Given the description of an element on the screen output the (x, y) to click on. 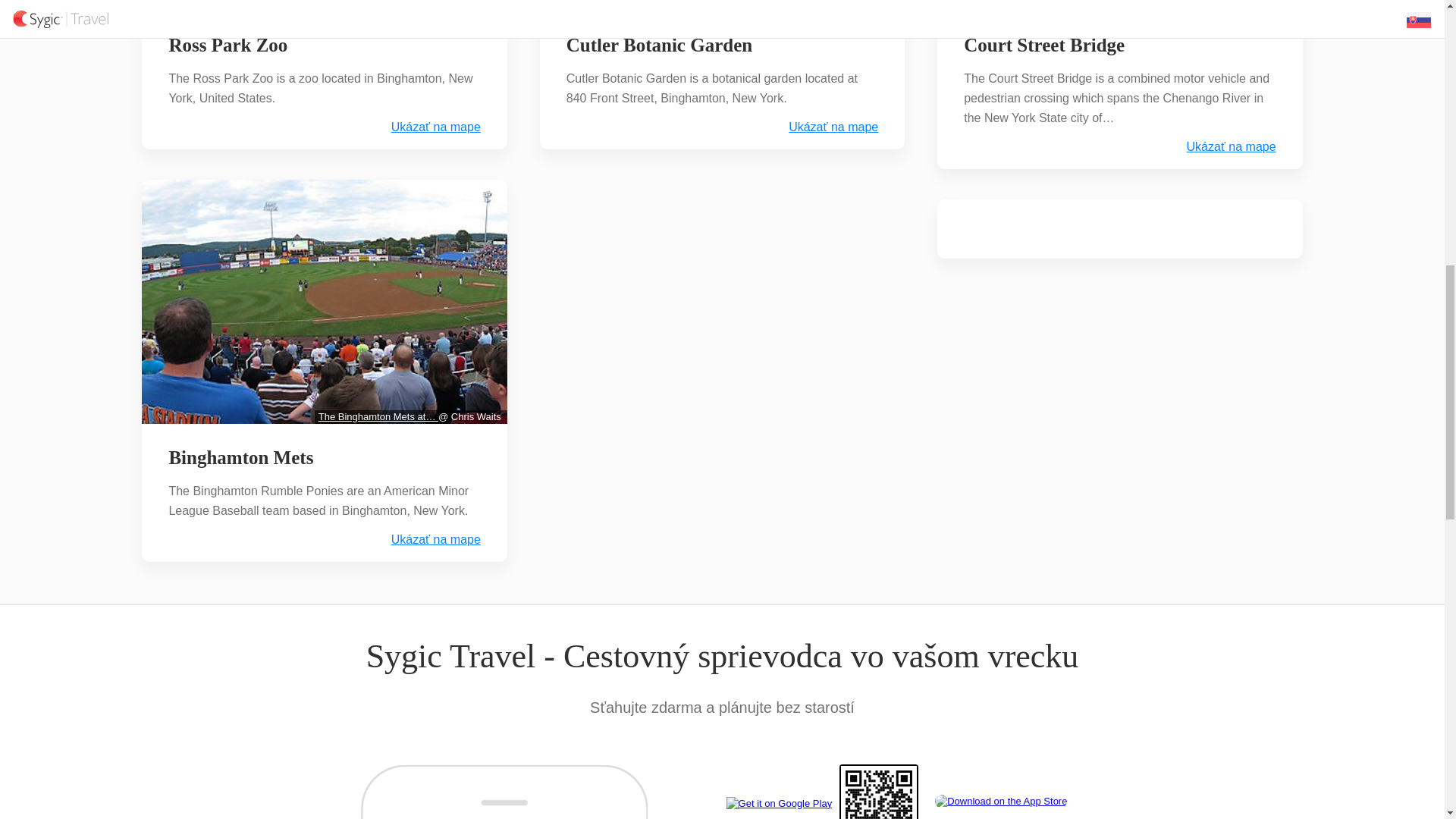
Binghamton Mets (240, 456)
Ross Park Zoo (227, 45)
Cutler Botanic Garden (659, 45)
Alex Erde (479, 4)
Jennifer (880, 4)
